Given the description of an element on the screen output the (x, y) to click on. 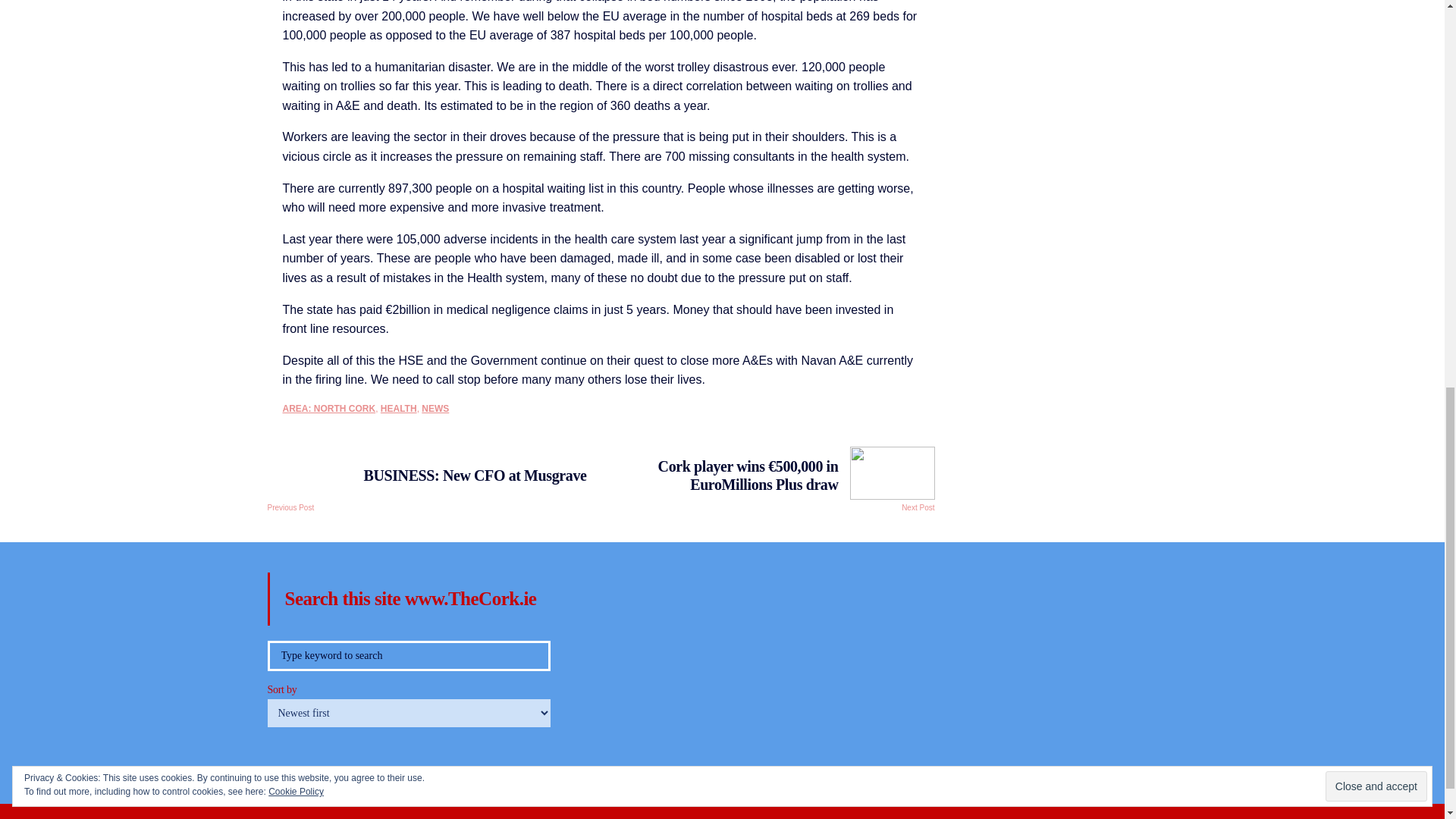
Type keyword to search (408, 655)
Close and accept (1375, 18)
Type keyword to search (408, 655)
